Given the description of an element on the screen output the (x, y) to click on. 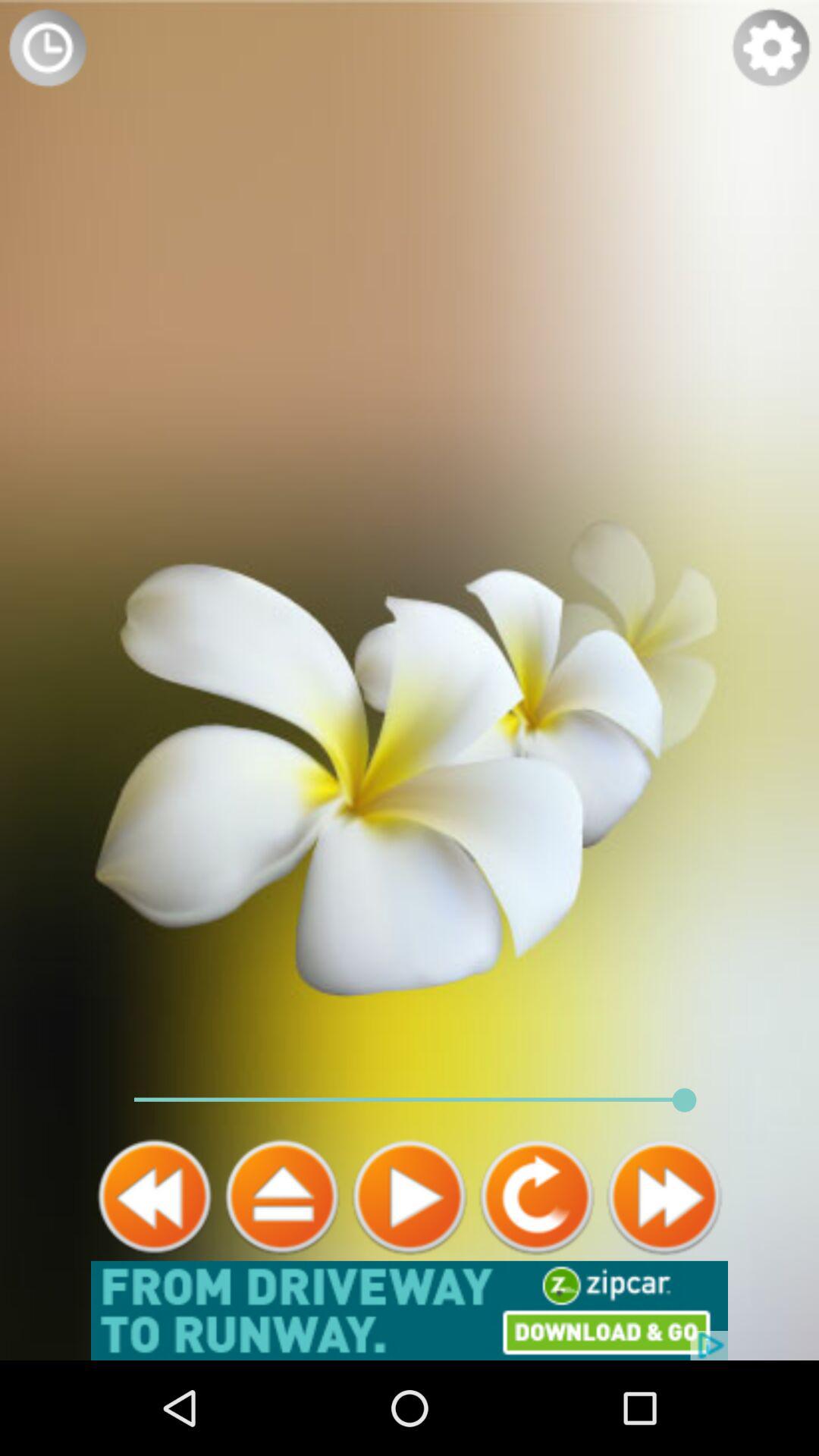
this is an advertisement (409, 1310)
